Given the description of an element on the screen output the (x, y) to click on. 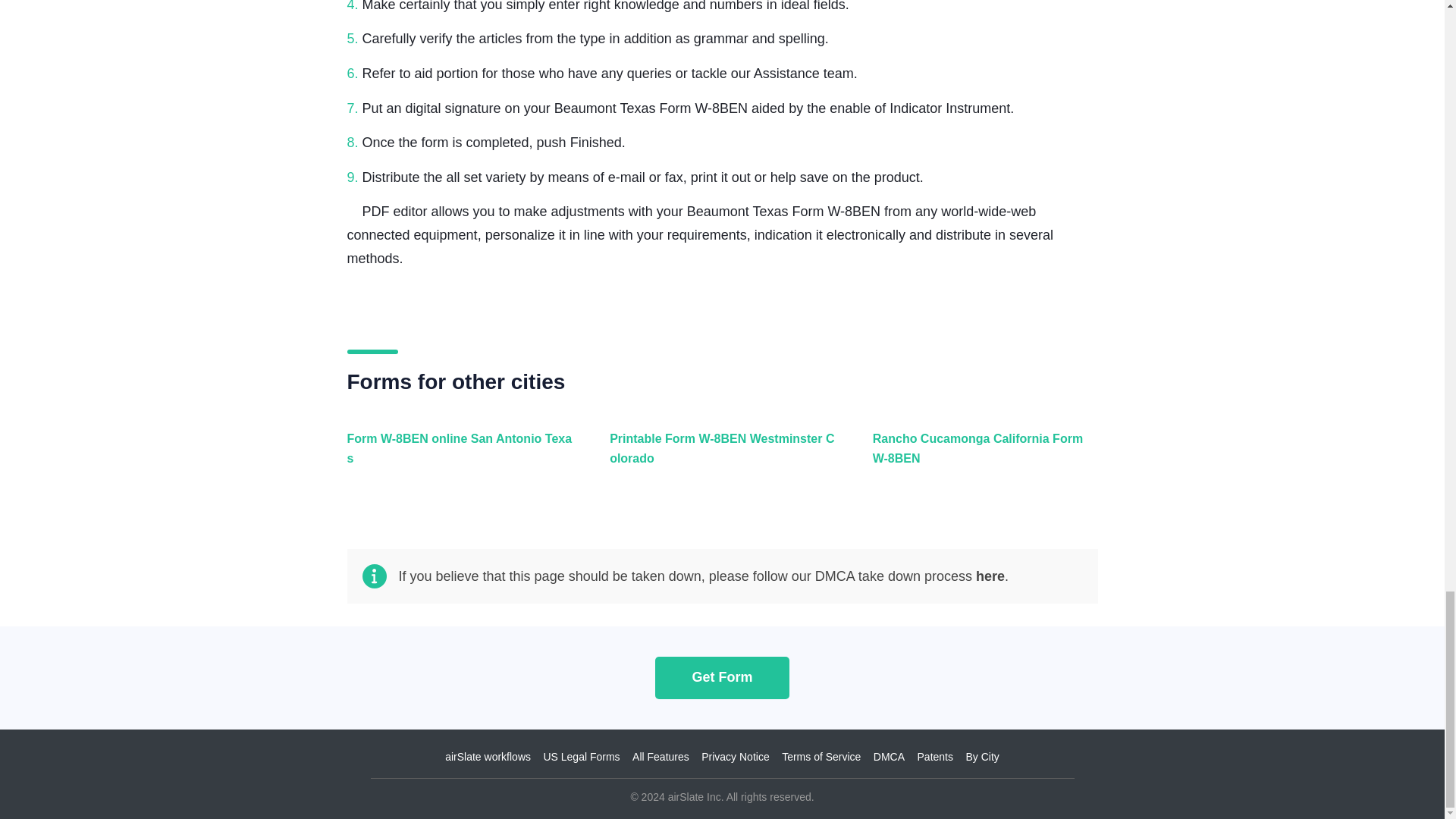
By City (981, 756)
Privacy Notice (734, 756)
All Features (659, 756)
Printable Form W-8BEN Westminster Colorado (718, 456)
Terms of Service (820, 756)
DMCA (888, 756)
airSlate workflows (488, 756)
here (989, 575)
US Legal Forms (581, 756)
Form W-8BEN online San Antonio Texas (456, 456)
Get Form (722, 676)
Patents (935, 756)
Rancho Cucamonga California Form W-8BEN (981, 456)
